Given the description of an element on the screen output the (x, y) to click on. 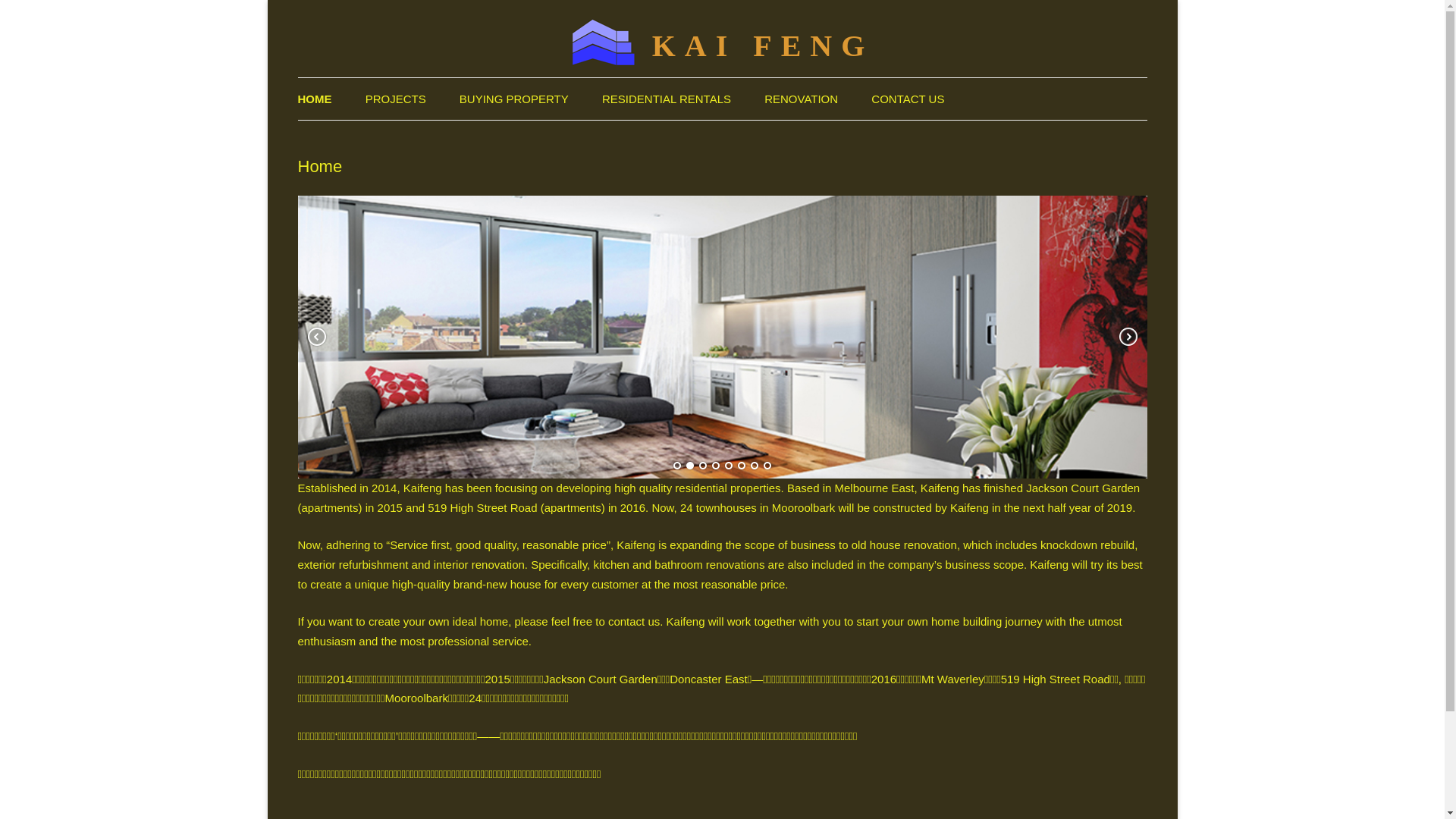
CURRENT Element type: text (441, 138)
PROJECTS Element type: text (395, 98)
CONTACT US Element type: text (907, 98)
HOME Element type: text (314, 98)
Skip to content Element type: text (721, 77)
RESIDENTIAL RENTALS Element type: text (666, 98)
BUYING PROPERTY Element type: text (513, 98)
RESIDENTIAL SALES Element type: text (535, 138)
KAI FENG Element type: text (763, 46)
RENOVATION Element type: text (800, 98)
